Given the description of an element on the screen output the (x, y) to click on. 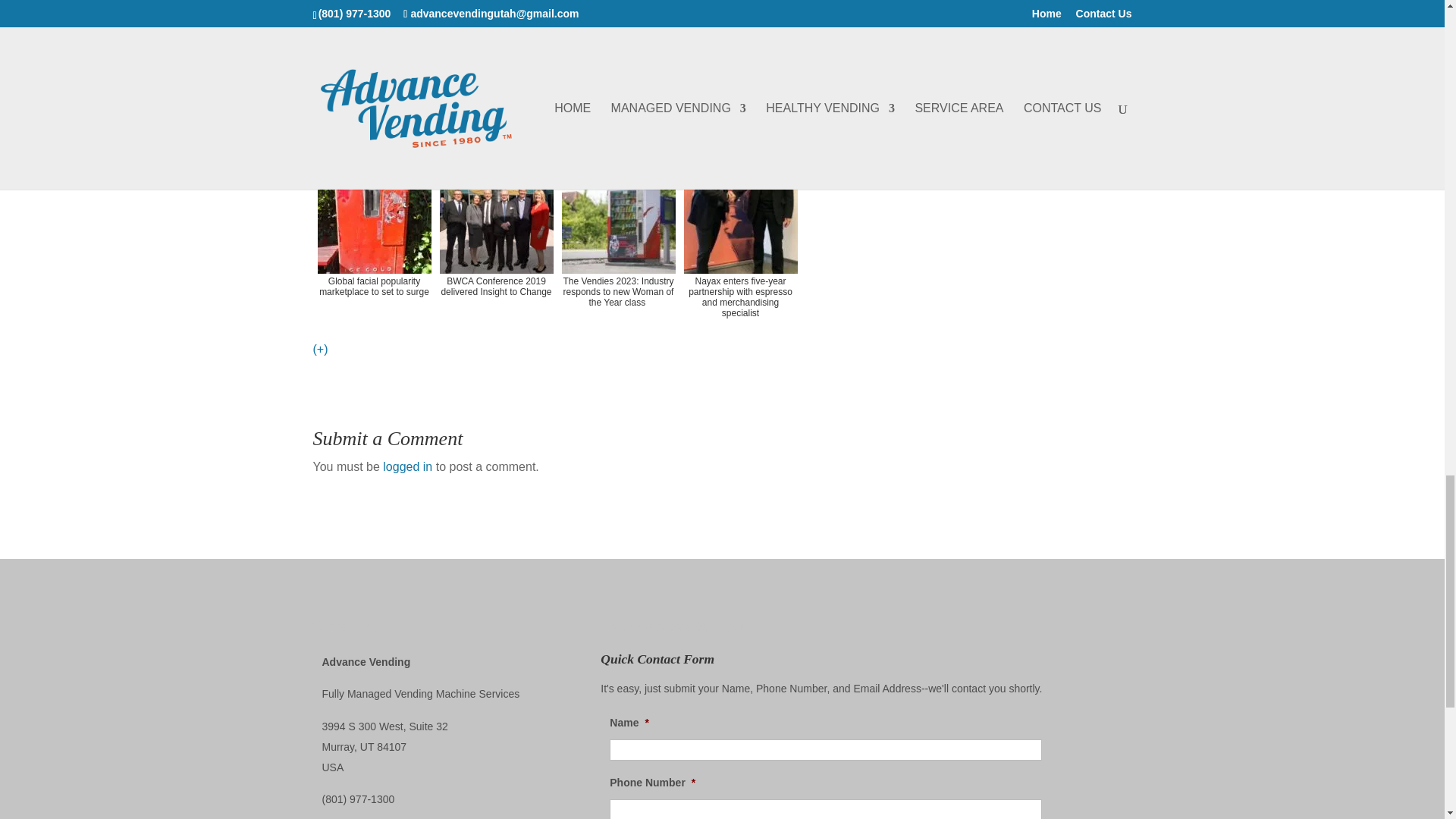
logged in (407, 466)
